Given the description of an element on the screen output the (x, y) to click on. 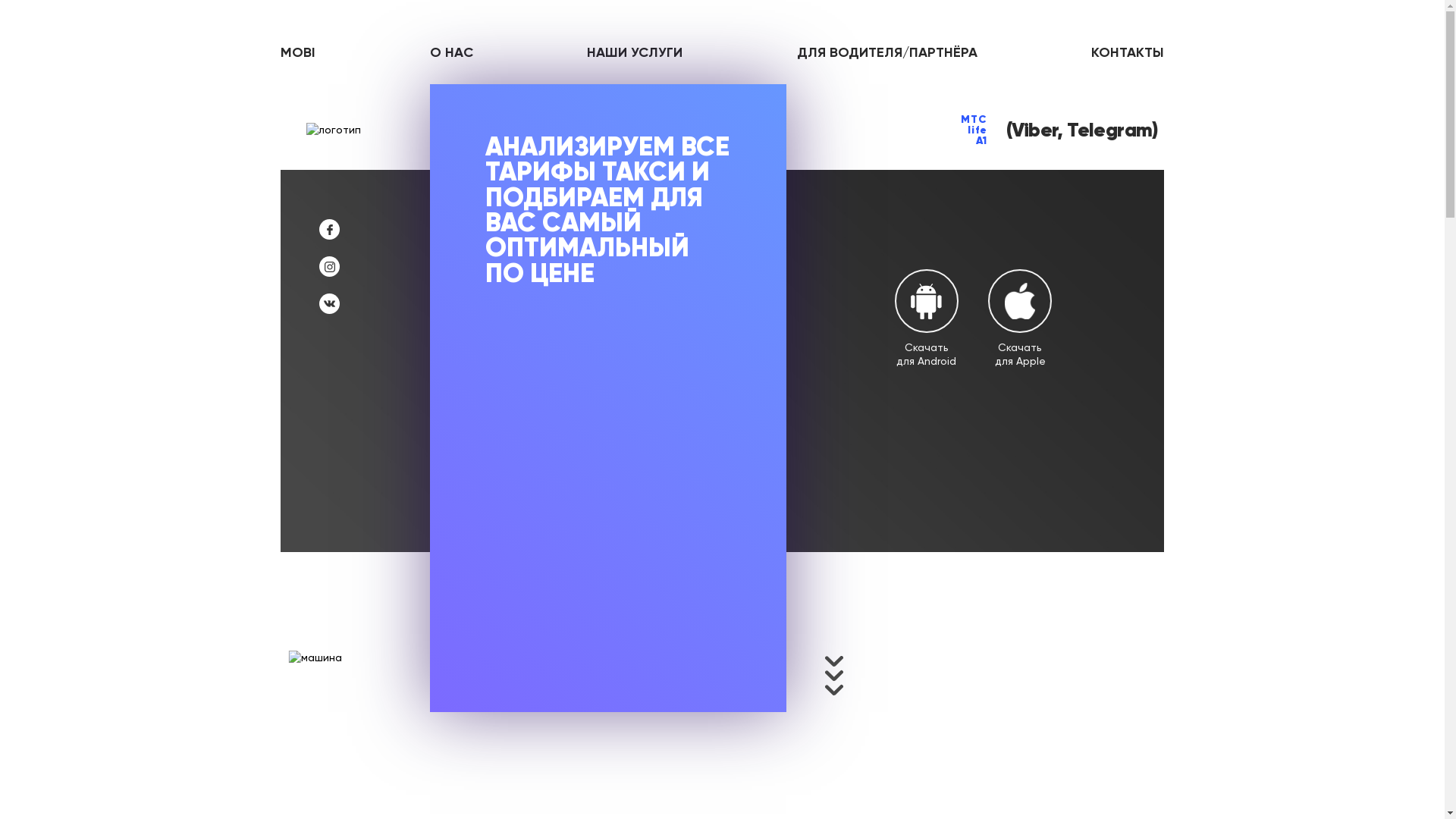
MOBI Element type: text (297, 51)
